Given the description of an element on the screen output the (x, y) to click on. 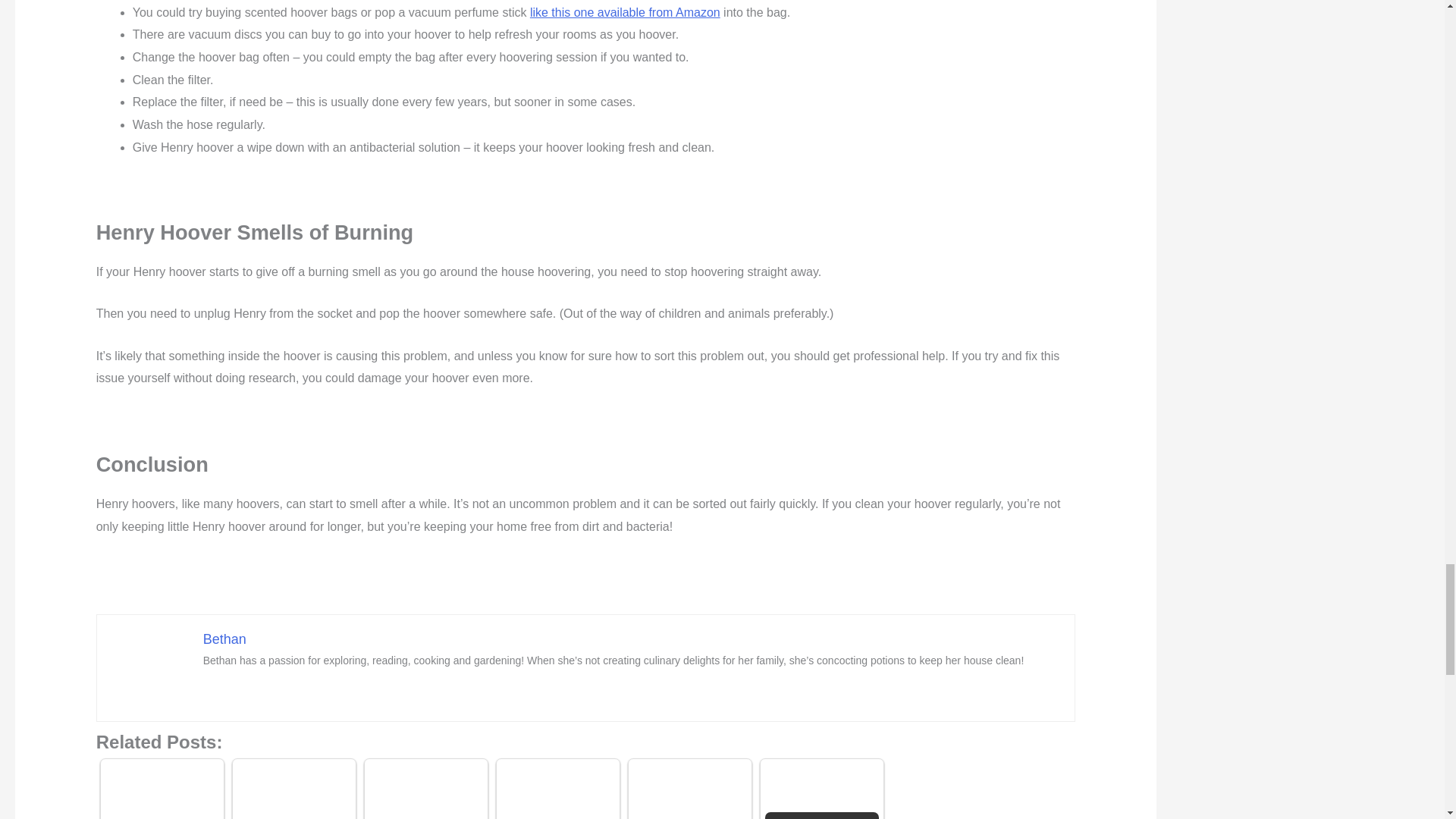
like this one available from Amazon (624, 11)
Can You Hoover Amtico Flooring? (293, 791)
Henry vs. Dyson - Which Is Best? (161, 791)
Bethan (224, 639)
How to Get Dog Smells Out of a House (557, 791)
How to Get Smells Out of a Sofa (689, 791)
Are Hoover Washing Machines Any Good? (426, 791)
